Given the description of an element on the screen output the (x, y) to click on. 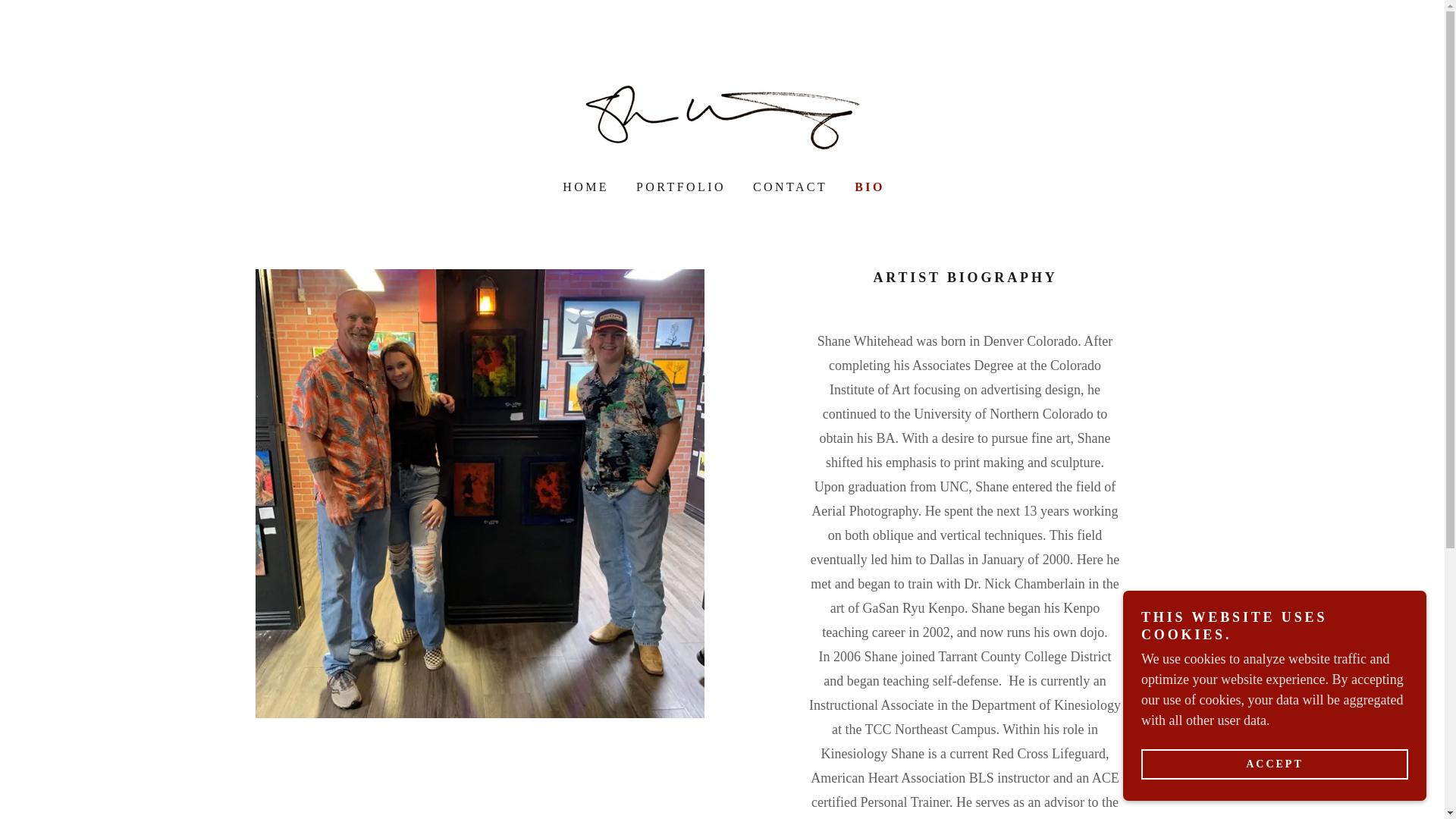
BIO (868, 187)
PORTFOLIO (679, 186)
CONTACT (788, 186)
ACCEPT (1274, 764)
Shane Whitehead (721, 111)
HOME (583, 186)
